Given the description of an element on the screen output the (x, y) to click on. 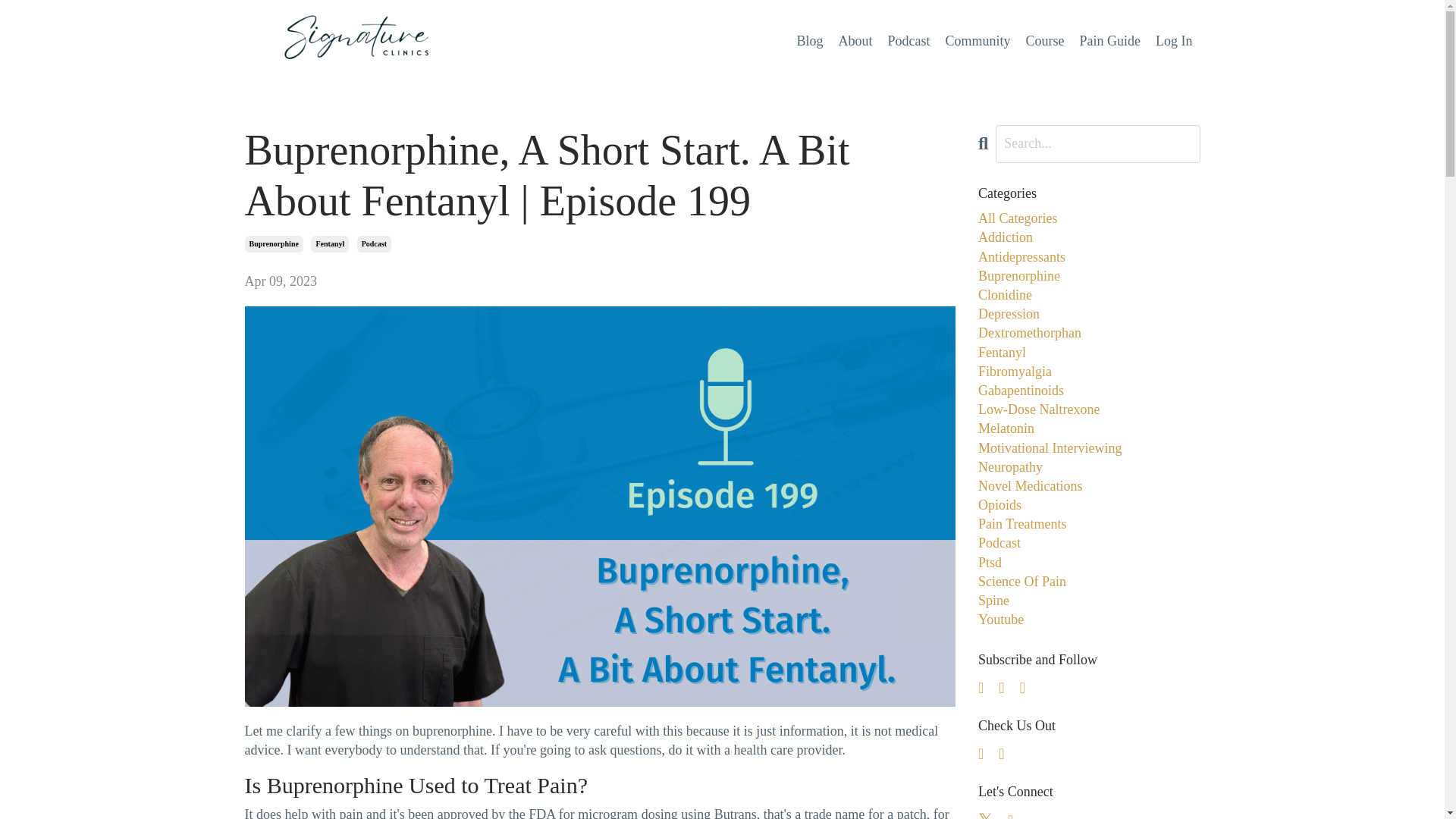
About (855, 40)
Opioids (1088, 505)
Clonidine (1088, 294)
Ptsd (1088, 562)
Gabapentinoids (1088, 390)
Fentanyl (1088, 352)
Depression (1088, 313)
Neuropathy (1088, 466)
Log In (1174, 40)
Pain Guide (1110, 40)
